Given the description of an element on the screen output the (x, y) to click on. 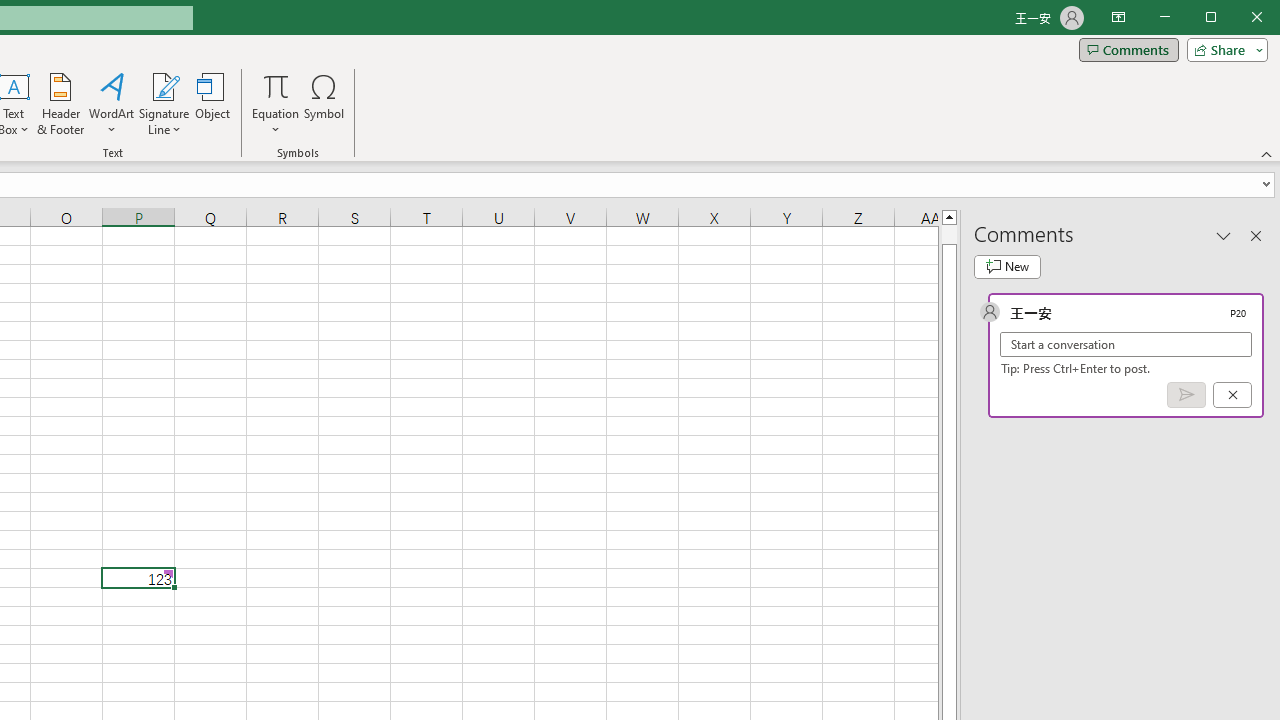
New comment (1007, 266)
Start a conversation (1126, 344)
Equation (275, 86)
Symbol... (324, 104)
Signature Line (164, 86)
Maximize (1239, 18)
Equation (275, 104)
Cancel (1232, 395)
